Given the description of an element on the screen output the (x, y) to click on. 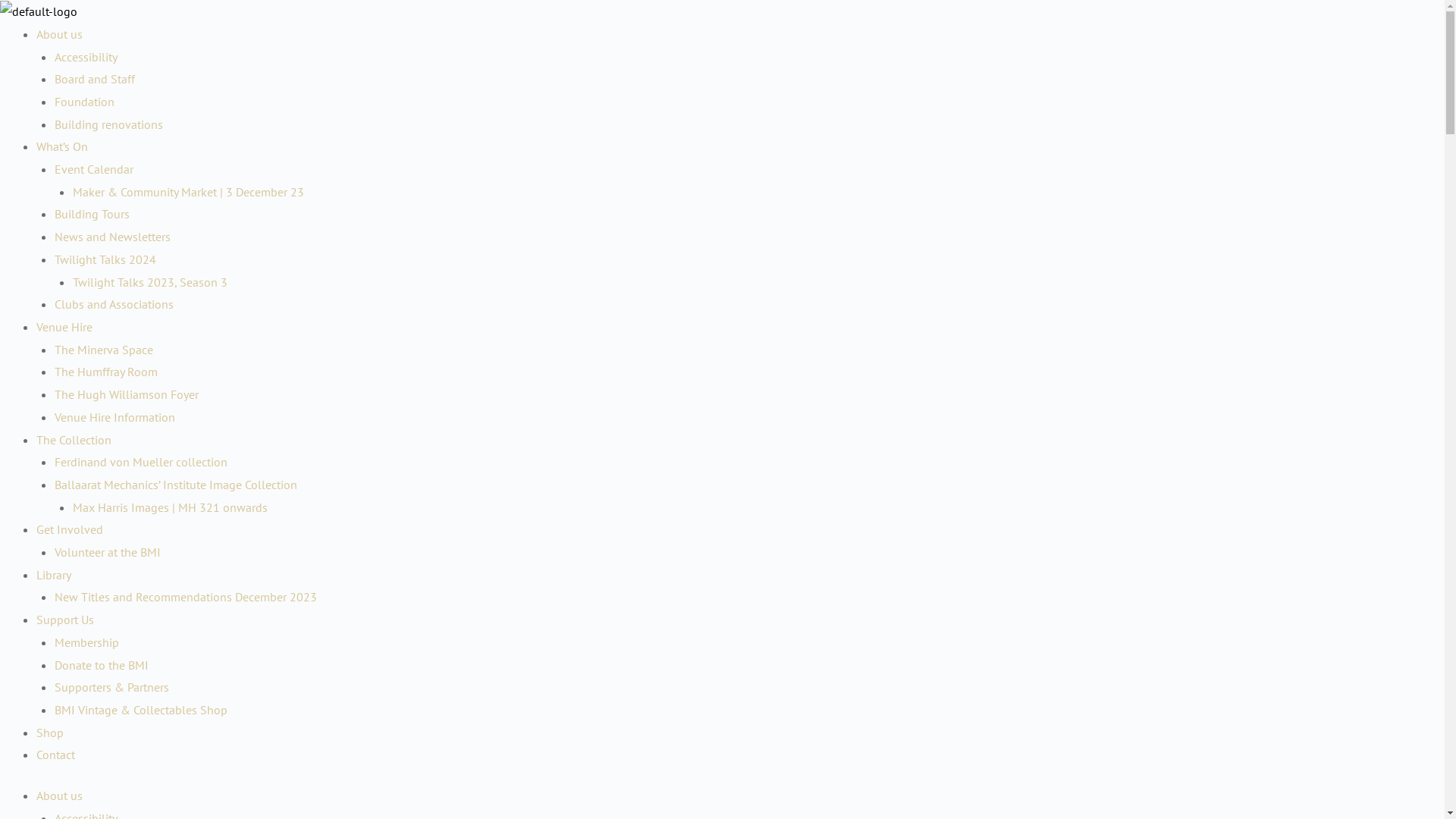
Library Element type: text (53, 574)
Building renovations Element type: text (108, 123)
Supporters & Partners Element type: text (111, 686)
Ferdinand von Mueller collection Element type: text (140, 461)
About us Element type: text (59, 33)
Get Involved Element type: text (69, 528)
Venue Hire Element type: text (64, 326)
The Collection Element type: text (73, 439)
Foundation Element type: text (84, 101)
The Hugh Williamson Foyer Element type: text (126, 393)
New Titles and Recommendations December 2023 Element type: text (185, 596)
The Minerva Space Element type: text (103, 349)
Building Tours Element type: text (91, 213)
About us Element type: text (59, 795)
News and Newsletters Element type: text (112, 236)
Maker & Community Market | 3 December 23 Element type: text (188, 191)
Volunteer at the BMI Element type: text (107, 551)
Event Calendar Element type: text (93, 168)
Support Us Element type: text (65, 619)
Membership Element type: text (86, 641)
Twilight Talks 2023, Season 3 Element type: text (149, 281)
Clubs and Associations Element type: text (113, 303)
Accessibility Element type: text (85, 56)
Venue Hire Information Element type: text (114, 416)
Shop Element type: text (49, 732)
Twilight Talks 2024 Element type: text (105, 258)
BMI Vintage & Collectables Shop Element type: text (140, 709)
Donate to the BMI Element type: text (101, 664)
Max Harris Images | MH 321 onwards Element type: text (169, 506)
The Humffray Room Element type: text (105, 371)
Board and Staff Element type: text (94, 78)
Contact Element type: text (55, 754)
